Given the description of an element on the screen output the (x, y) to click on. 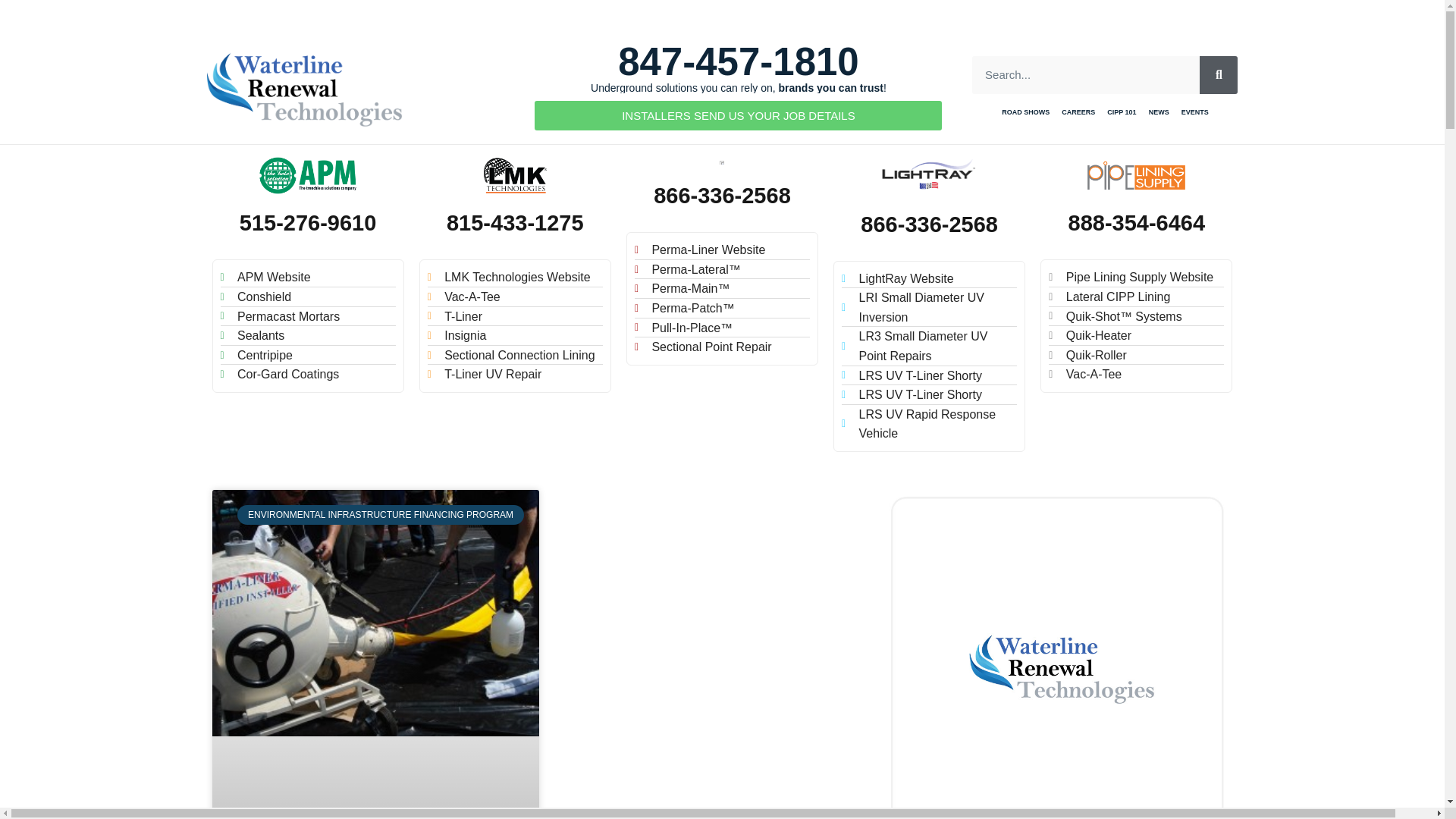
Perma-Liner Website (721, 250)
Conshield (306, 297)
Centripipe (306, 355)
T-Liner (515, 316)
Vac-A-Tee (515, 297)
APM Website (306, 277)
CIPP 101 (1120, 112)
ROAD SHOWS (1025, 112)
LMK Technologies Website (515, 277)
CAREERS (1077, 112)
Search (1218, 75)
EVENTS (1194, 112)
Sectional Point Repair (721, 347)
Sealants (306, 335)
LightRay Website (928, 279)
